Given the description of an element on the screen output the (x, y) to click on. 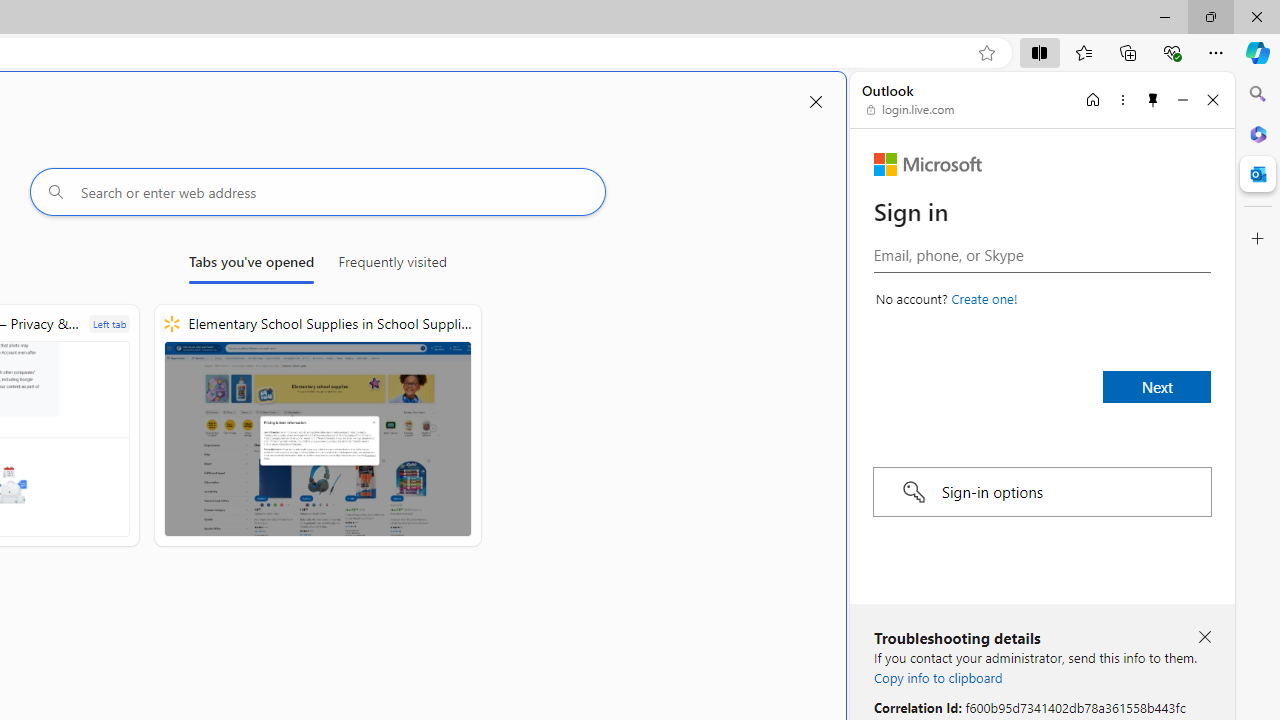
Settings and more (Alt+F) (1215, 52)
Tabs you've opened (251, 265)
Frequently visited (392, 265)
Add this page to favorites (Ctrl+D) (986, 53)
Restore (1210, 16)
Enter your email, phone, or Skype. (1042, 254)
More options (1122, 99)
Browser essentials (1171, 52)
Microsoft (927, 164)
Collections (1128, 52)
Split screen (1039, 52)
Minimize (1182, 99)
Customize (1258, 239)
